Given the description of an element on the screen output the (x, y) to click on. 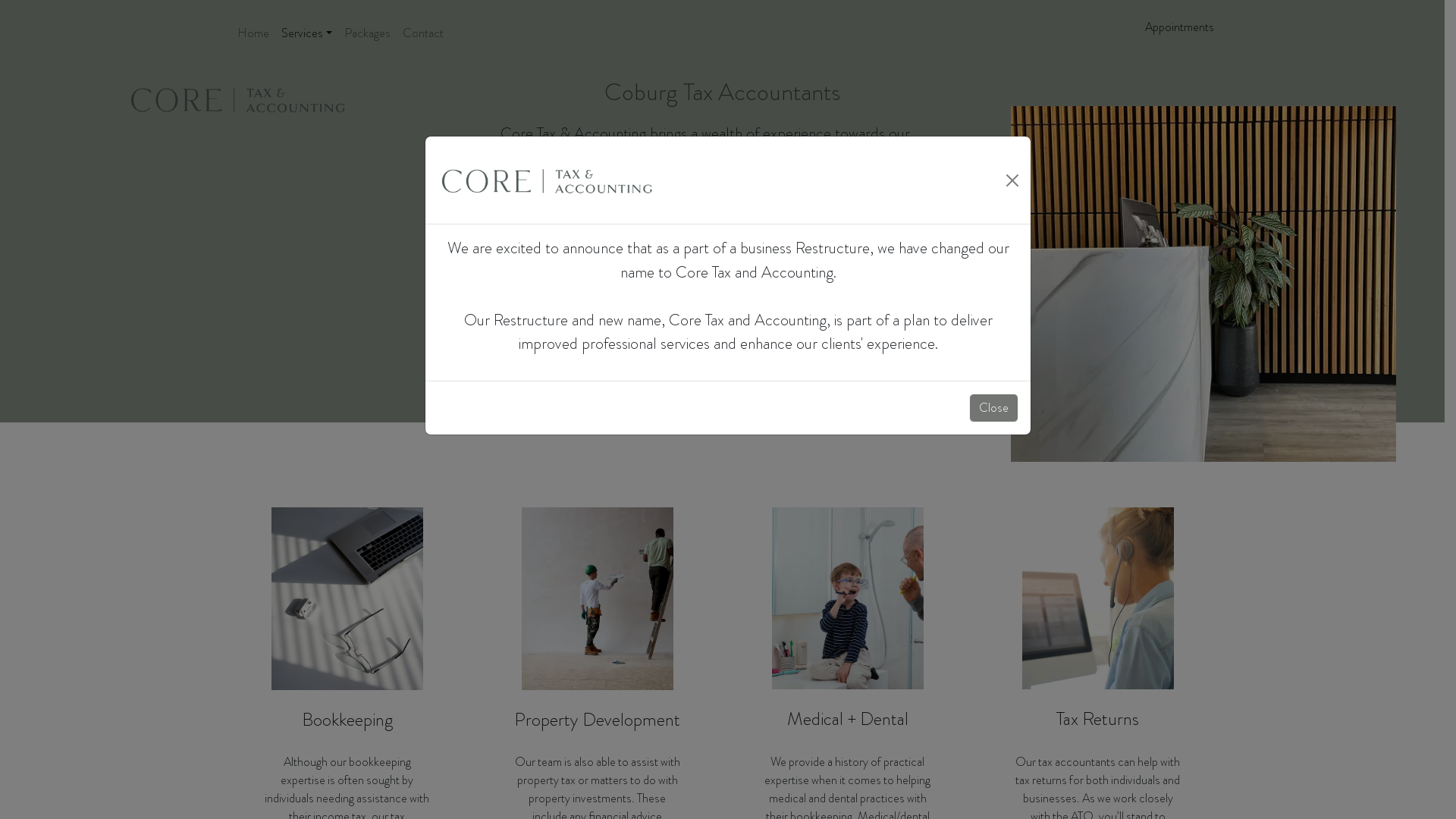
Appointments Element type: text (1179, 26)
Packages Element type: text (367, 33)
Services Element type: text (305, 33)
Home Element type: text (252, 33)
Close Element type: text (993, 407)
Contact Element type: text (422, 33)
